Given the description of an element on the screen output the (x, y) to click on. 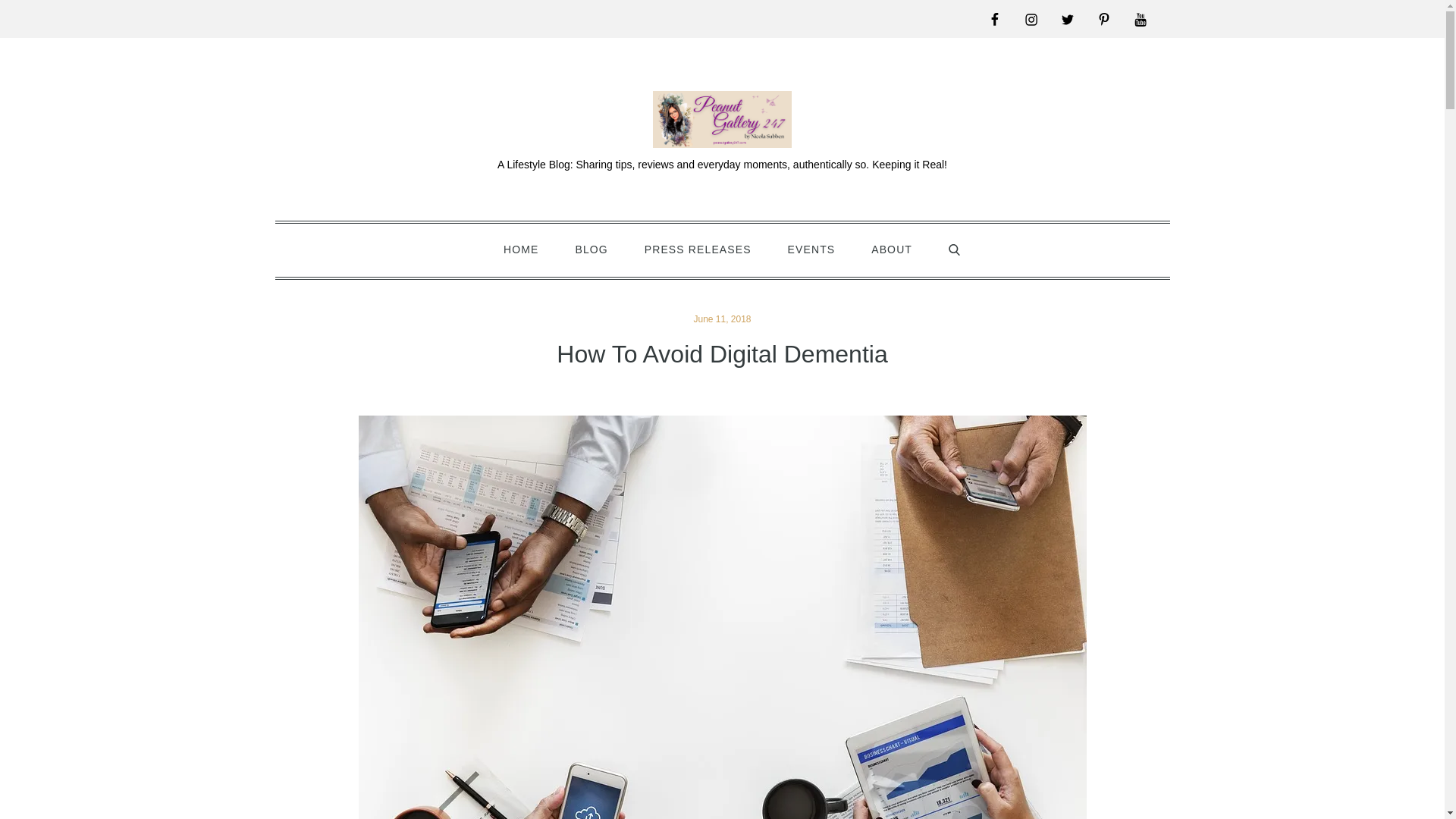
PRESS RELEASES (697, 249)
June 11, 2018 (722, 318)
HOME (520, 249)
ABOUT (891, 249)
EVENTS (811, 249)
BLOG (590, 249)
